Given the description of an element on the screen output the (x, y) to click on. 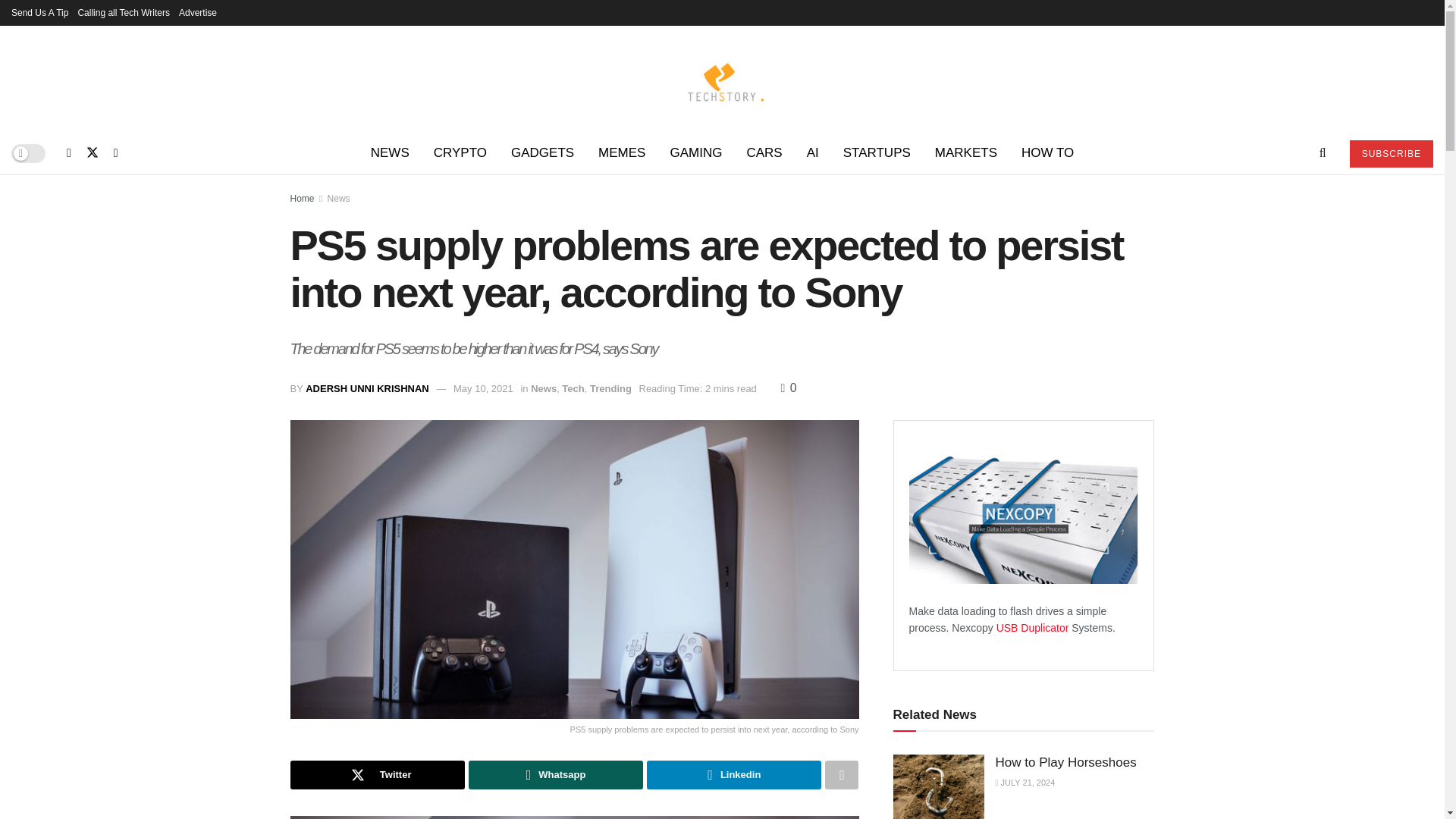
CRYPTO (460, 152)
Calling all Tech Writers (123, 12)
Home (301, 198)
HOW TO (1047, 152)
NEWS (390, 152)
Advertise (197, 12)
MARKETS (966, 152)
GADGETS (542, 152)
News (338, 198)
CARS (763, 152)
Send Us A Tip (39, 12)
GAMING (695, 152)
STARTUPS (877, 152)
USB duplicator (1033, 627)
MEMES (622, 152)
